Given the description of an element on the screen output the (x, y) to click on. 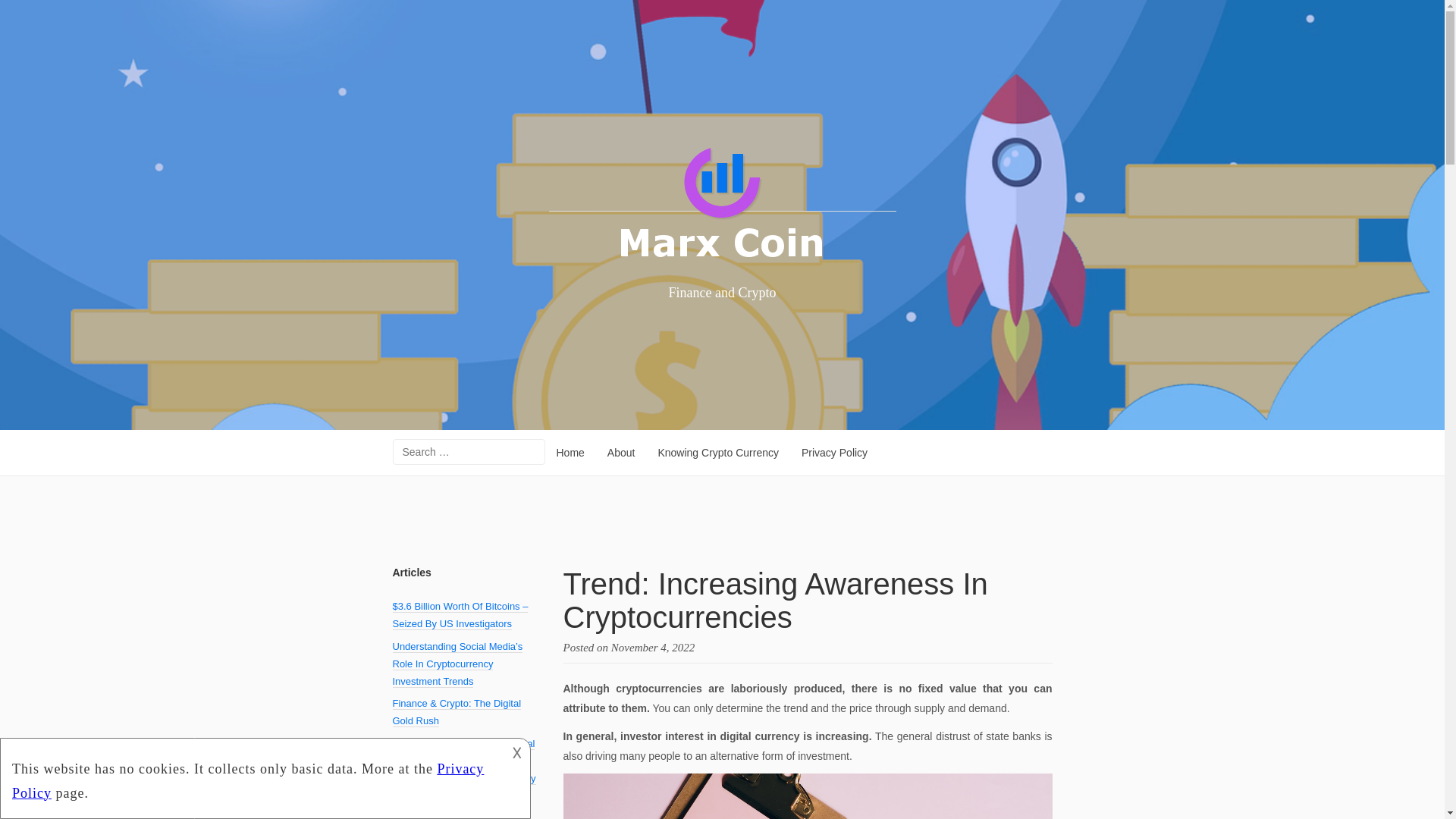
Trend: Increasing Awareness In Cryptocurrencies (652, 647)
Investing In Bitcoin: Is Now The Right Time? (462, 807)
November 4, 2022 (652, 647)
Privacy Policy (834, 452)
Knowing Crypto Currency (718, 452)
Home (569, 452)
Knowing Crypto Currency (718, 452)
Trend: Increasing Awareness In Cryptocurrencies (774, 600)
description (252, 776)
Marx Coin (722, 204)
About (620, 452)
Privacy Policy (834, 452)
About (620, 452)
Home (569, 452)
Search (24, 10)
